Given the description of an element on the screen output the (x, y) to click on. 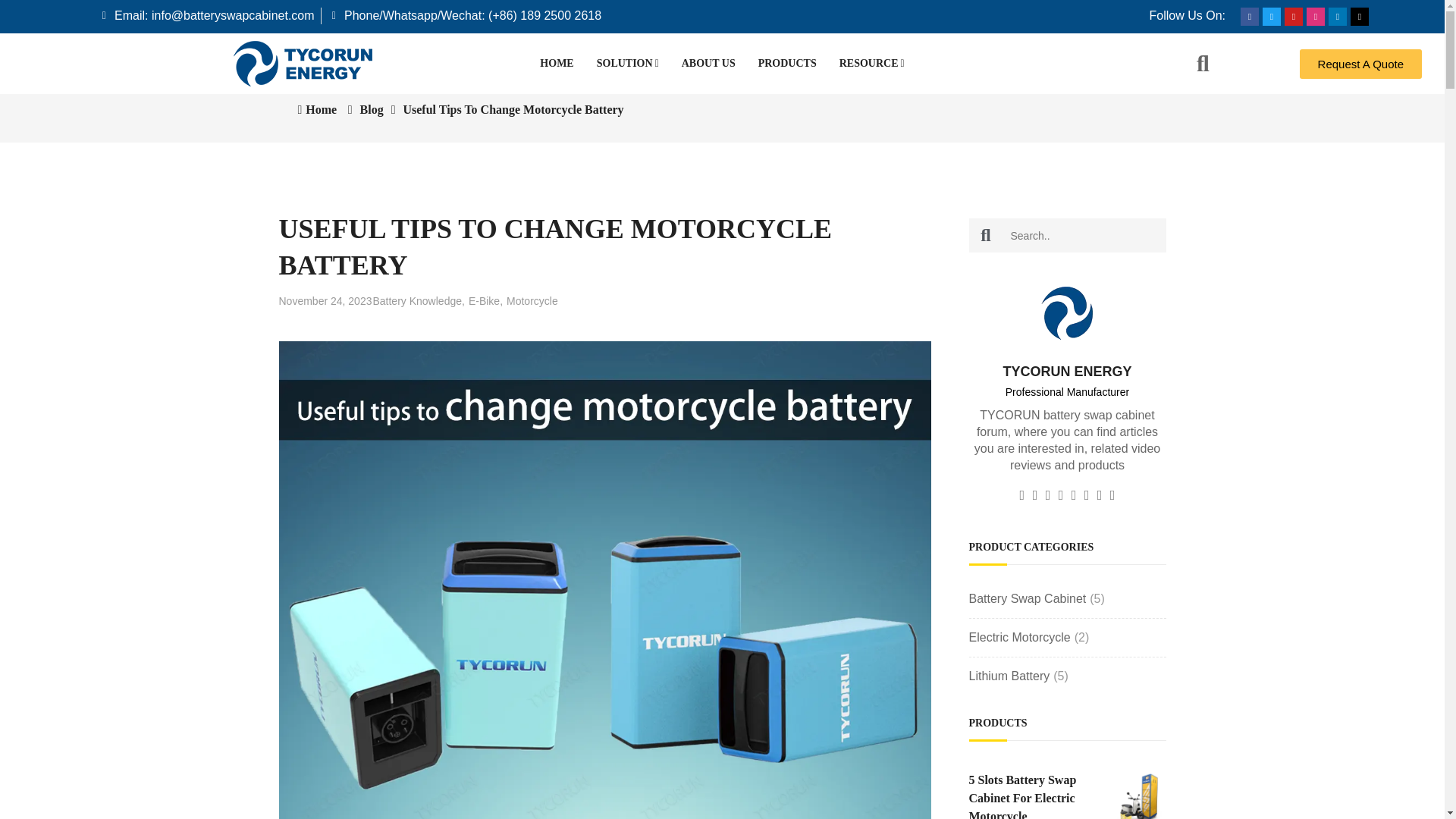
Home (316, 109)
Motorcycle (531, 300)
Search (986, 235)
Battery Knowledge (418, 300)
E-Bike (485, 300)
Request A Quote (1361, 62)
HOME (556, 63)
TYCORUN batteryswapcabinetLOGO1 (1067, 312)
ABOUT US (707, 63)
RESOURCE (871, 63)
